Given the description of an element on the screen output the (x, y) to click on. 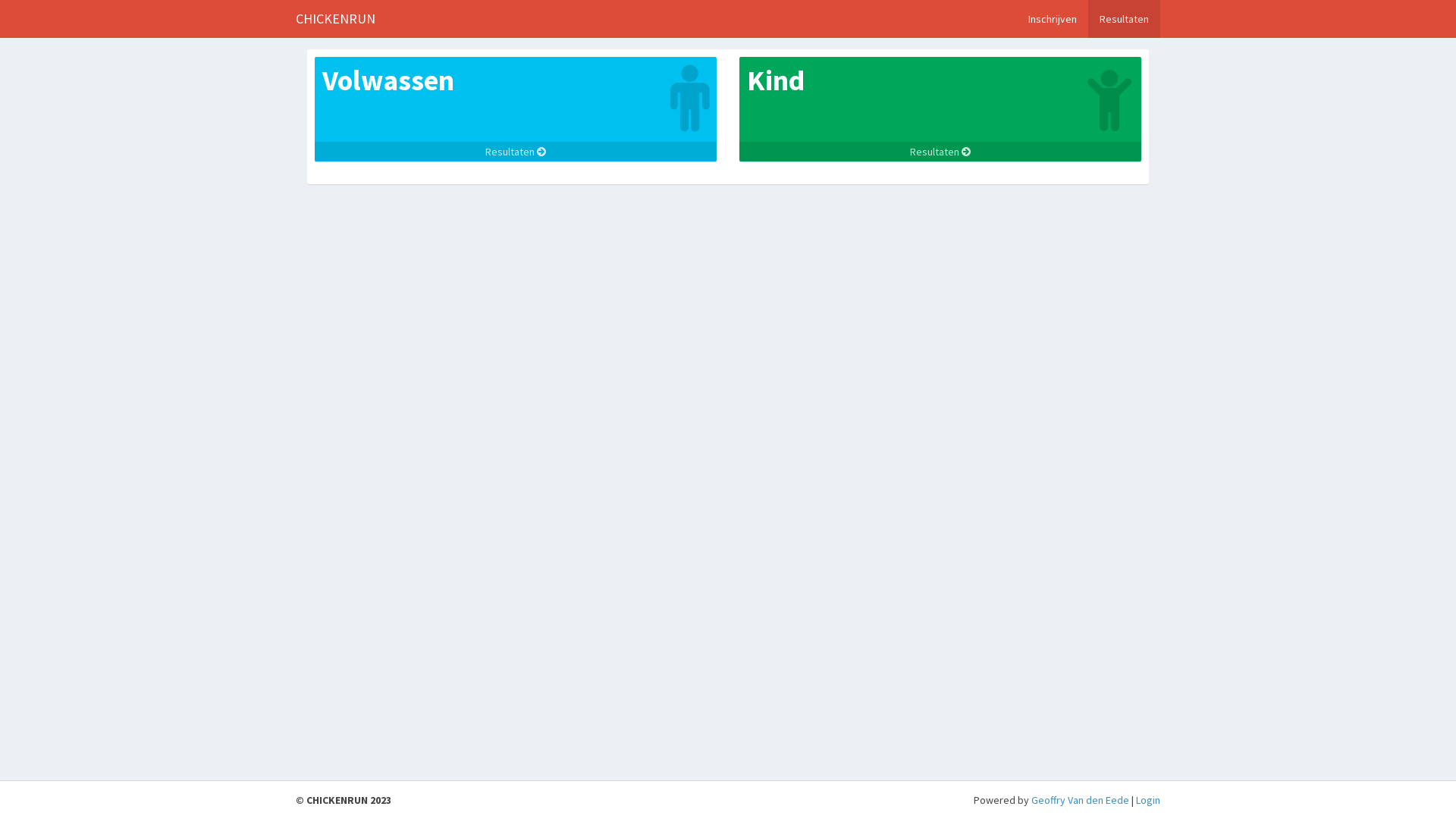
Kind
Resultaten Element type: text (940, 108)
Login Element type: text (1147, 799)
Inschrijven Element type: text (1052, 18)
Resultaten Element type: text (515, 151)
Resultaten Element type: text (1124, 18)
Volwassen
Resultaten Element type: text (515, 108)
Geoffry Van den Eede Element type: text (1080, 799)
Resultaten Element type: text (940, 151)
CHICKENRUN Element type: text (335, 18)
